Given the description of an element on the screen output the (x, y) to click on. 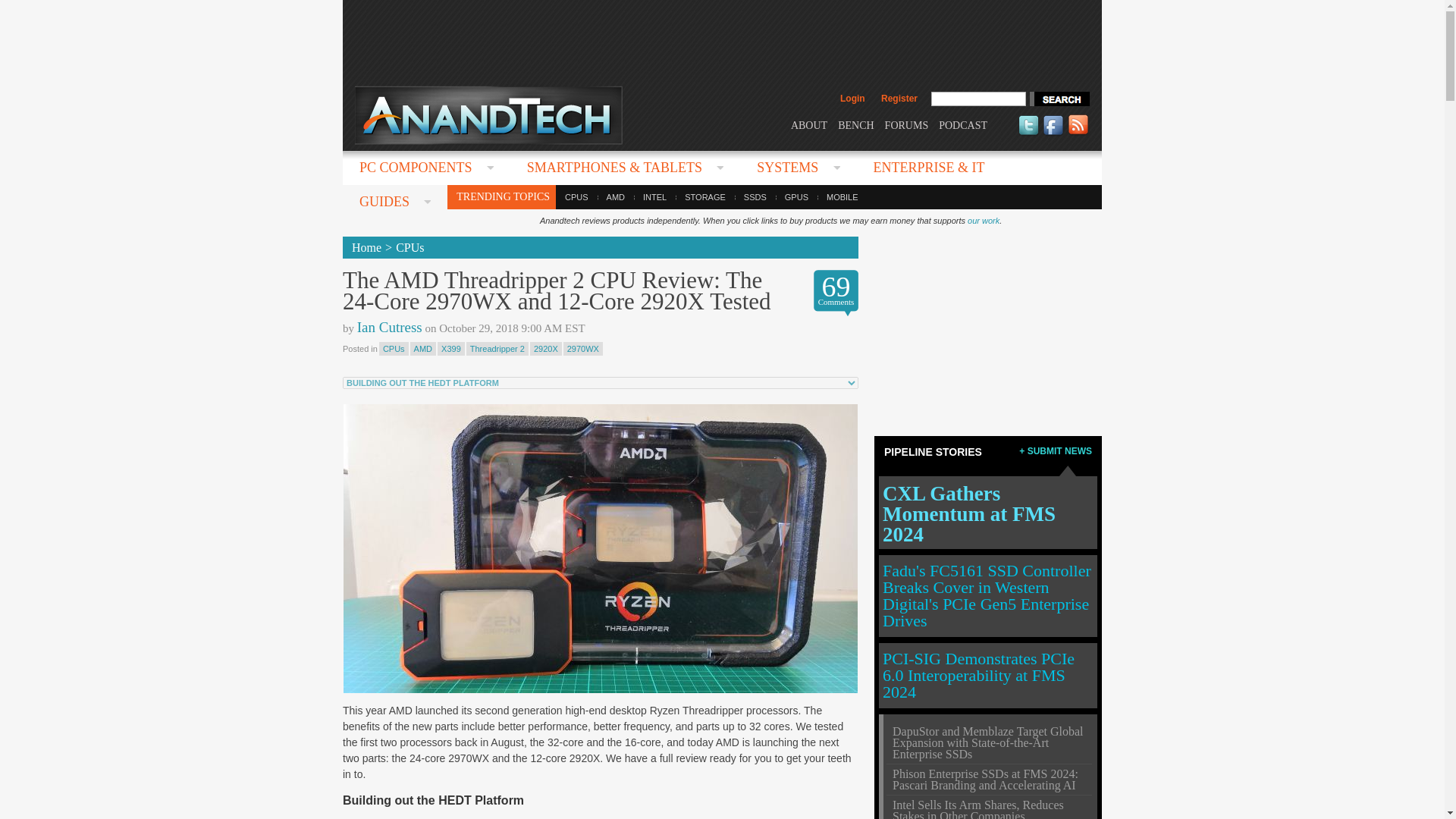
search (1059, 98)
FORUMS (906, 125)
Register (898, 98)
search (1059, 98)
search (1059, 98)
BENCH (855, 125)
ABOUT (808, 125)
PODCAST (963, 125)
Login (852, 98)
